Given the description of an element on the screen output the (x, y) to click on. 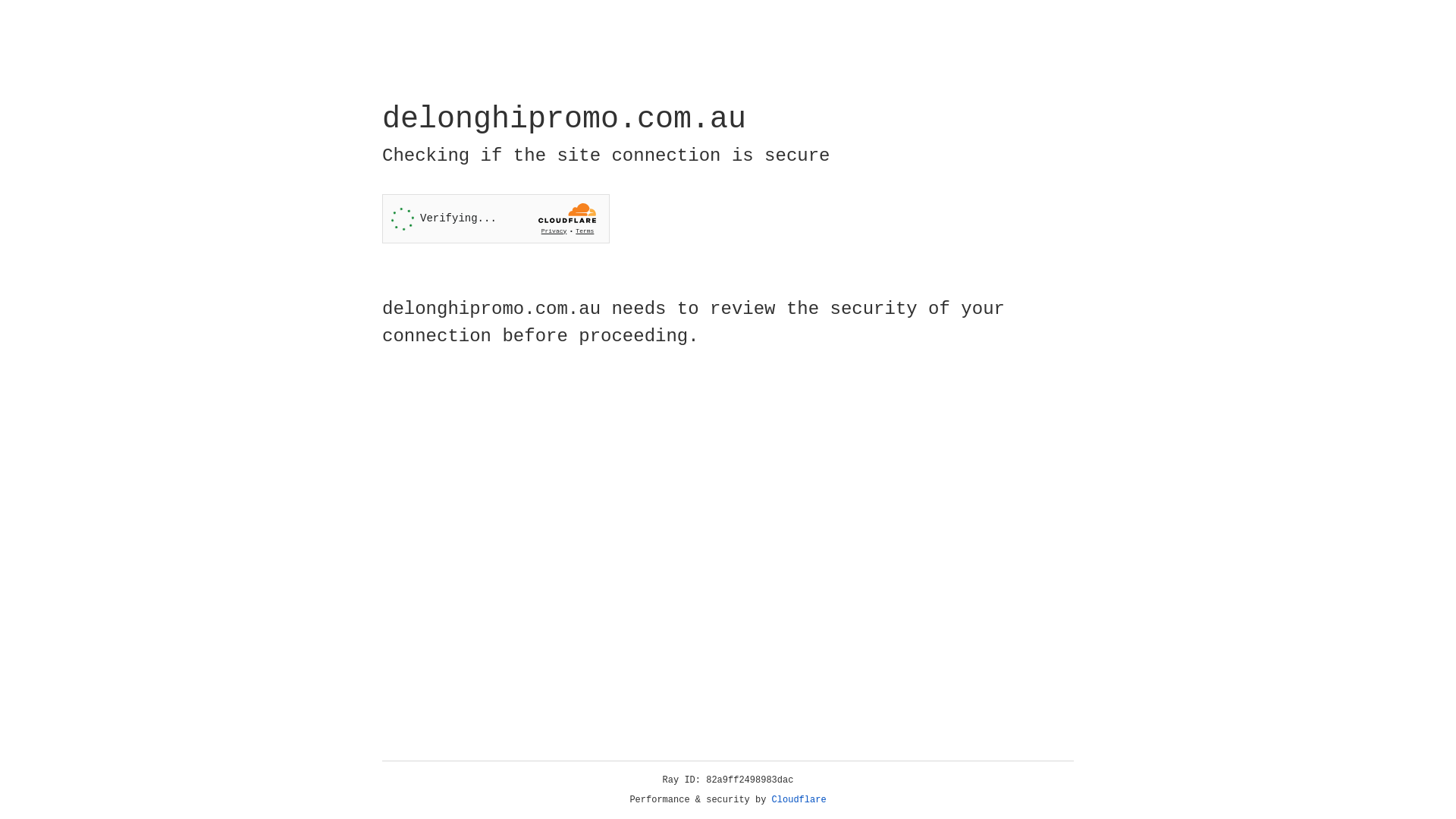
Widget containing a Cloudflare security challenge Element type: hover (495, 218)
Cloudflare Element type: text (798, 799)
